Given the description of an element on the screen output the (x, y) to click on. 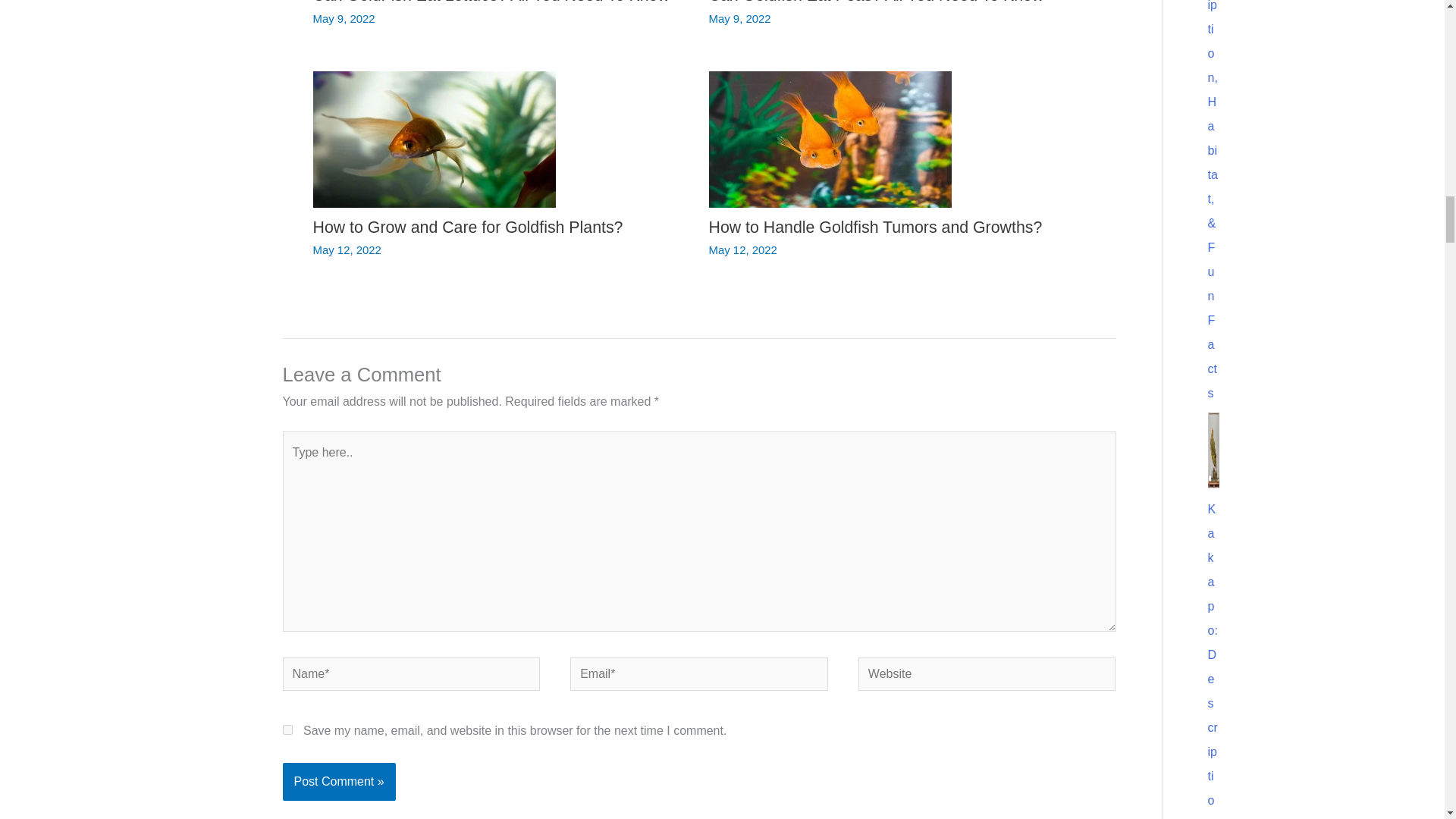
yes (287, 729)
How to Grow and Care for Goldfish Plants? (468, 227)
How to Handle Goldfish Tumors and Growths? (874, 227)
Can Goldfish Eat Peas? All You Need To Know (875, 2)
Can GoldFish Eat Lettuce? All You Need To Know (490, 2)
